Given the description of an element on the screen output the (x, y) to click on. 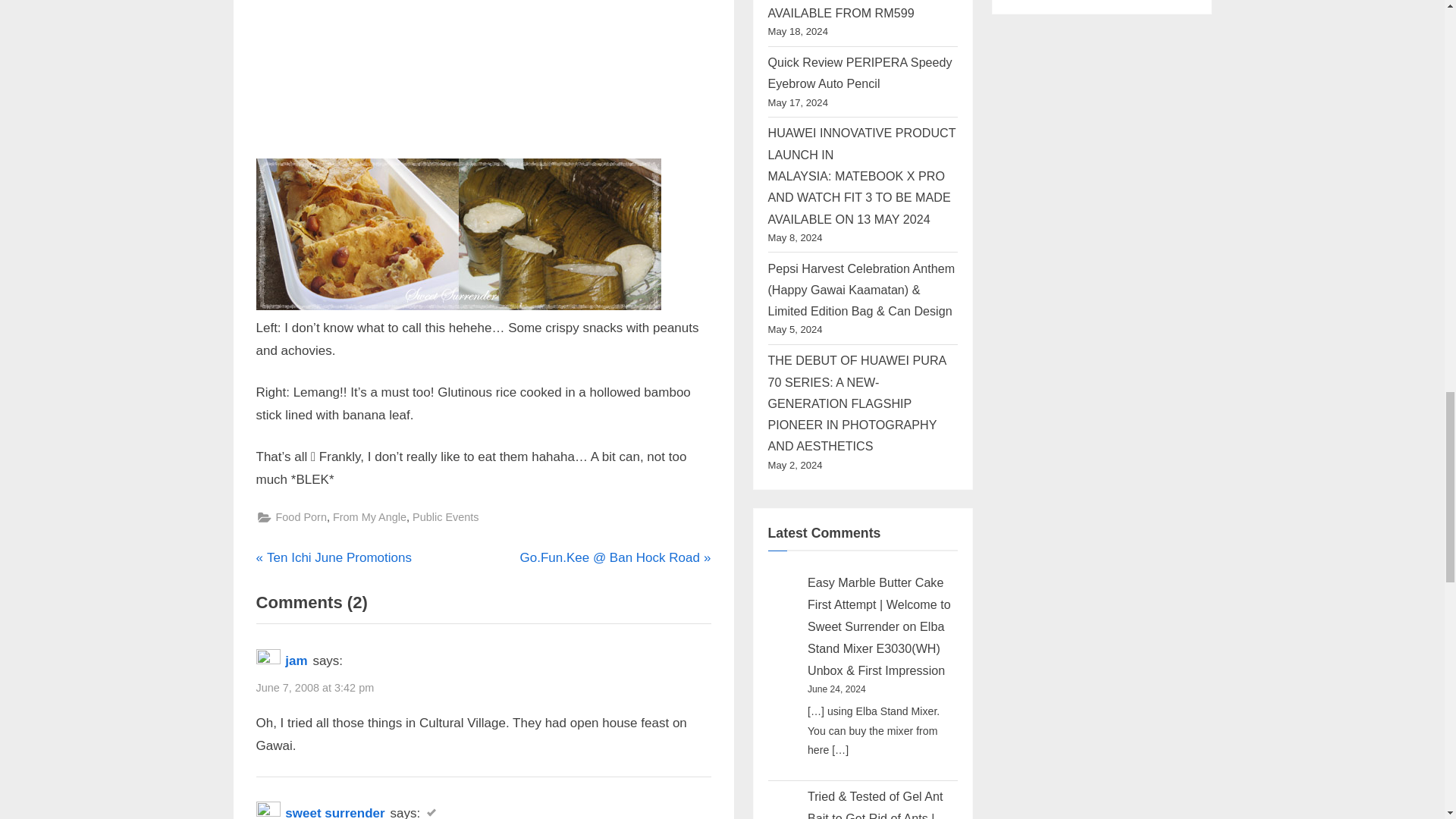
jam (296, 660)
Public Events (445, 517)
From My Angle (369, 517)
June 7, 2008 at 3:42 pm (315, 687)
Food Porn (334, 558)
sweet surrender (301, 517)
